Given the description of an element on the screen output the (x, y) to click on. 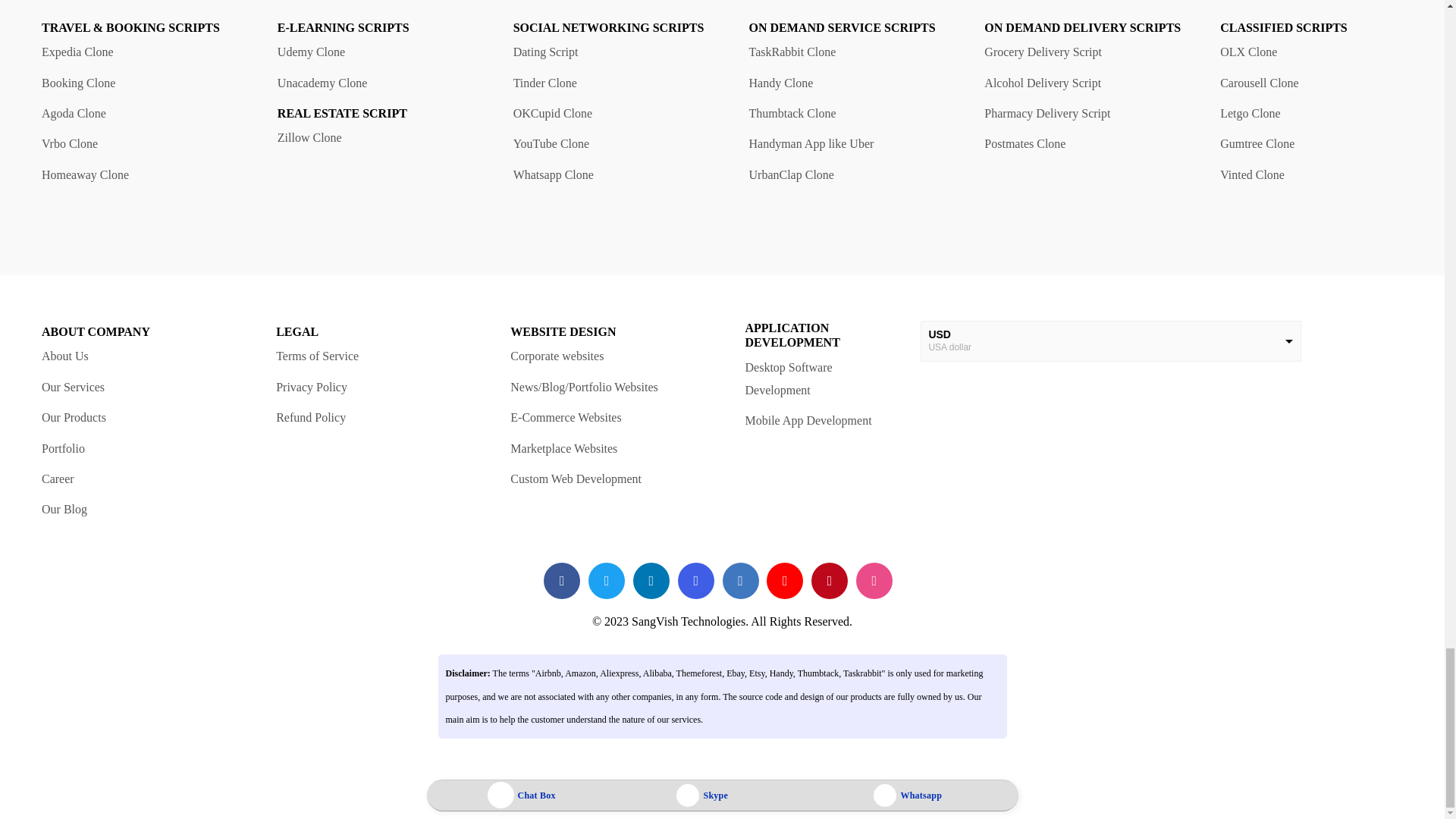
safe-secured-payment-payment-1 (1027, 439)
